Given the description of an element on the screen output the (x, y) to click on. 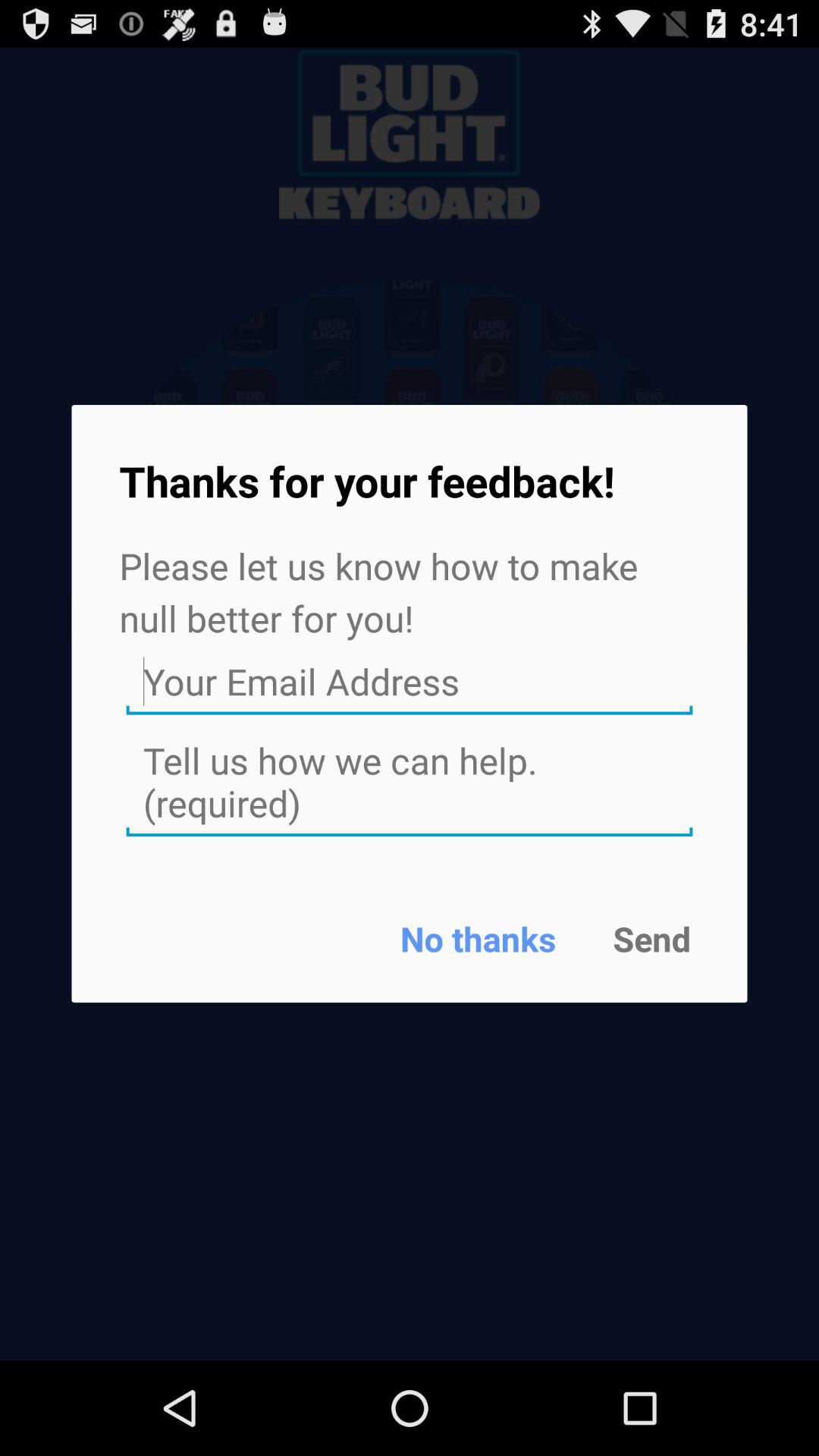
shows email address dash (409, 681)
